Given the description of an element on the screen output the (x, y) to click on. 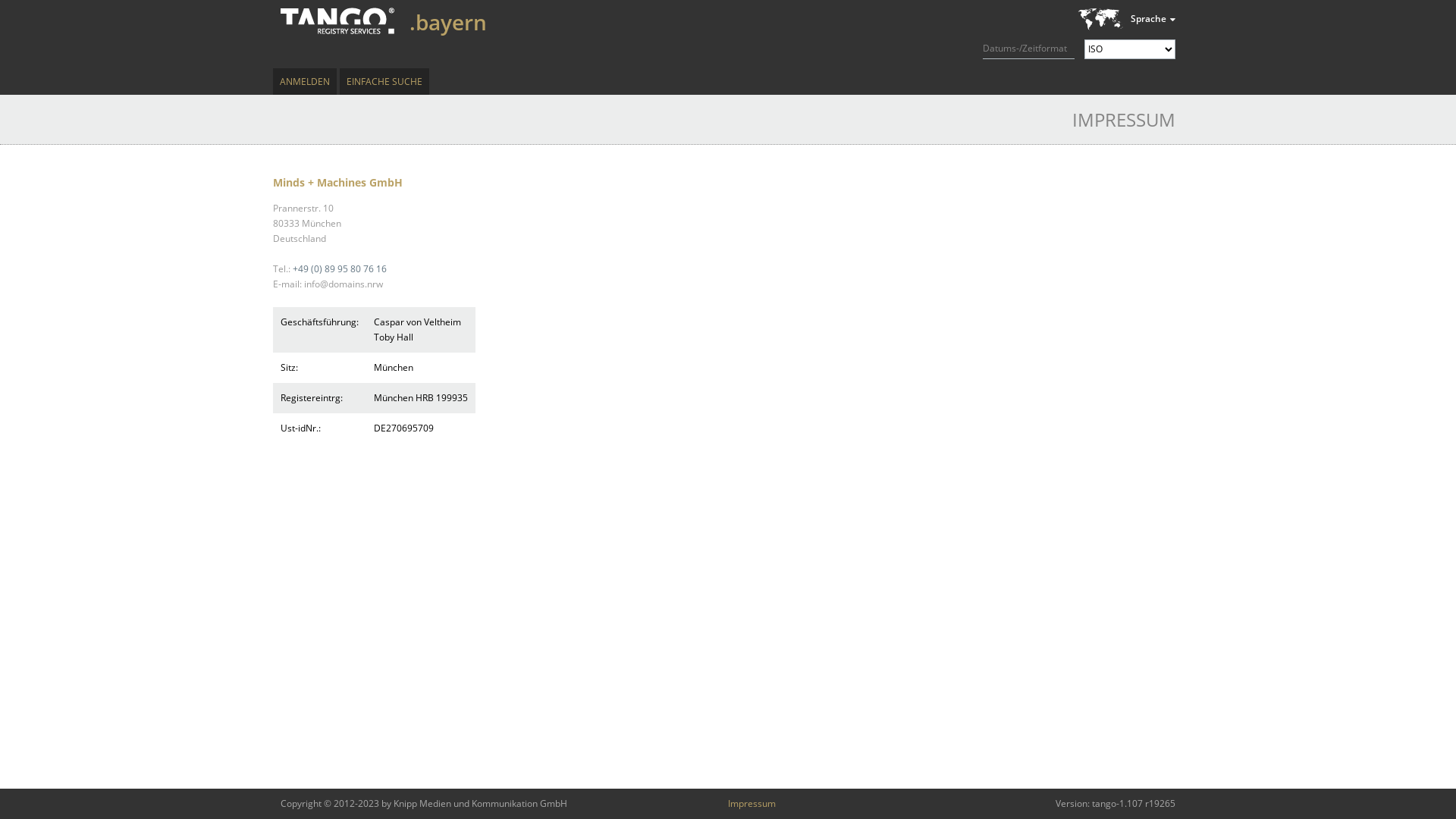
+49 (0) 89 95 80 76 16 Element type: text (339, 268)
ANMELDEN Element type: text (304, 81)
English Element type: text (1078, 42)
EINFACHE SUCHE Element type: text (384, 81)
